Given the description of an element on the screen output the (x, y) to click on. 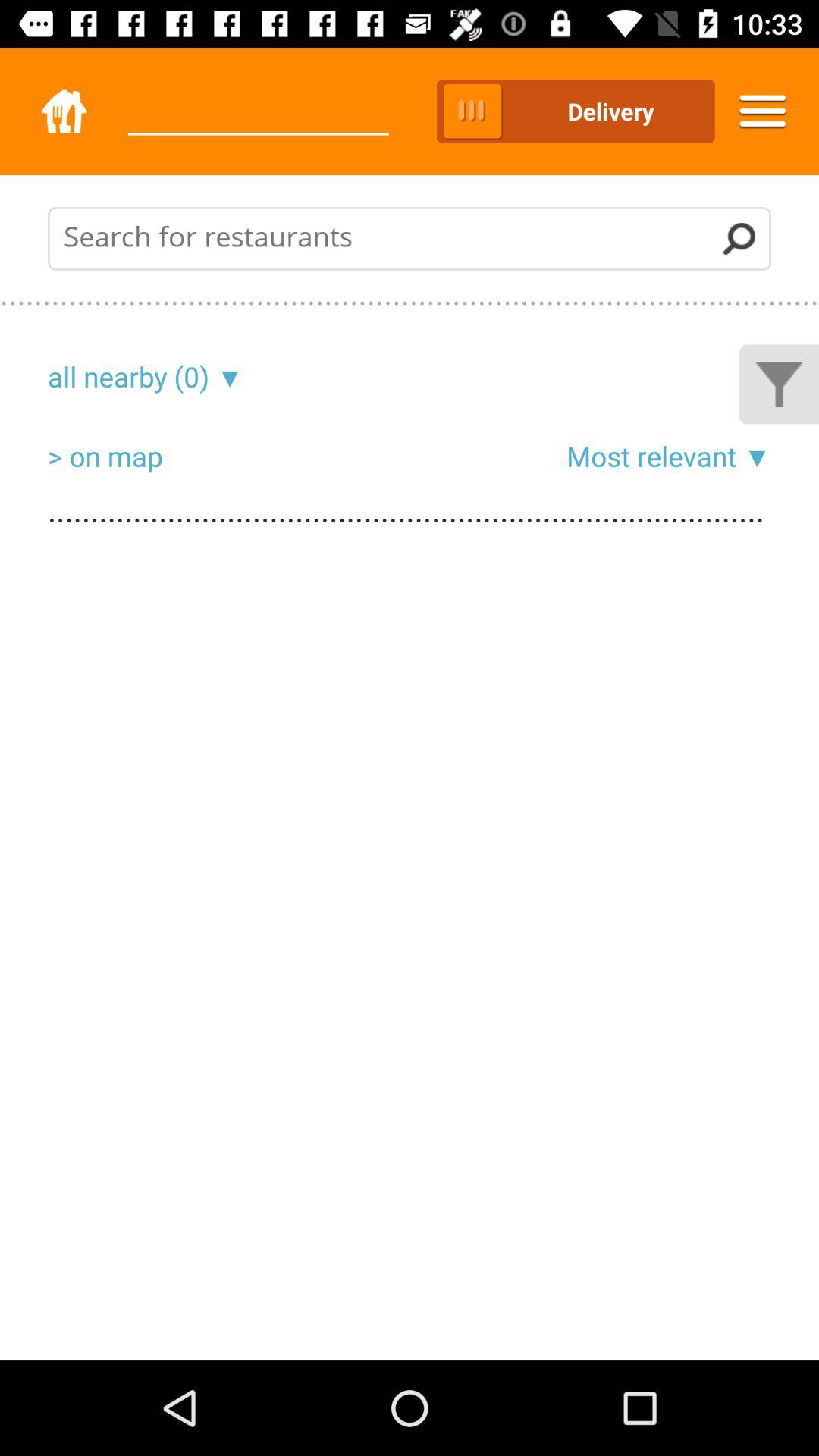
turn on item above .................................................................................................................................................................................................................................................................................................................................................................................................................................................................................................... item (226, 376)
